Given the description of an element on the screen output the (x, y) to click on. 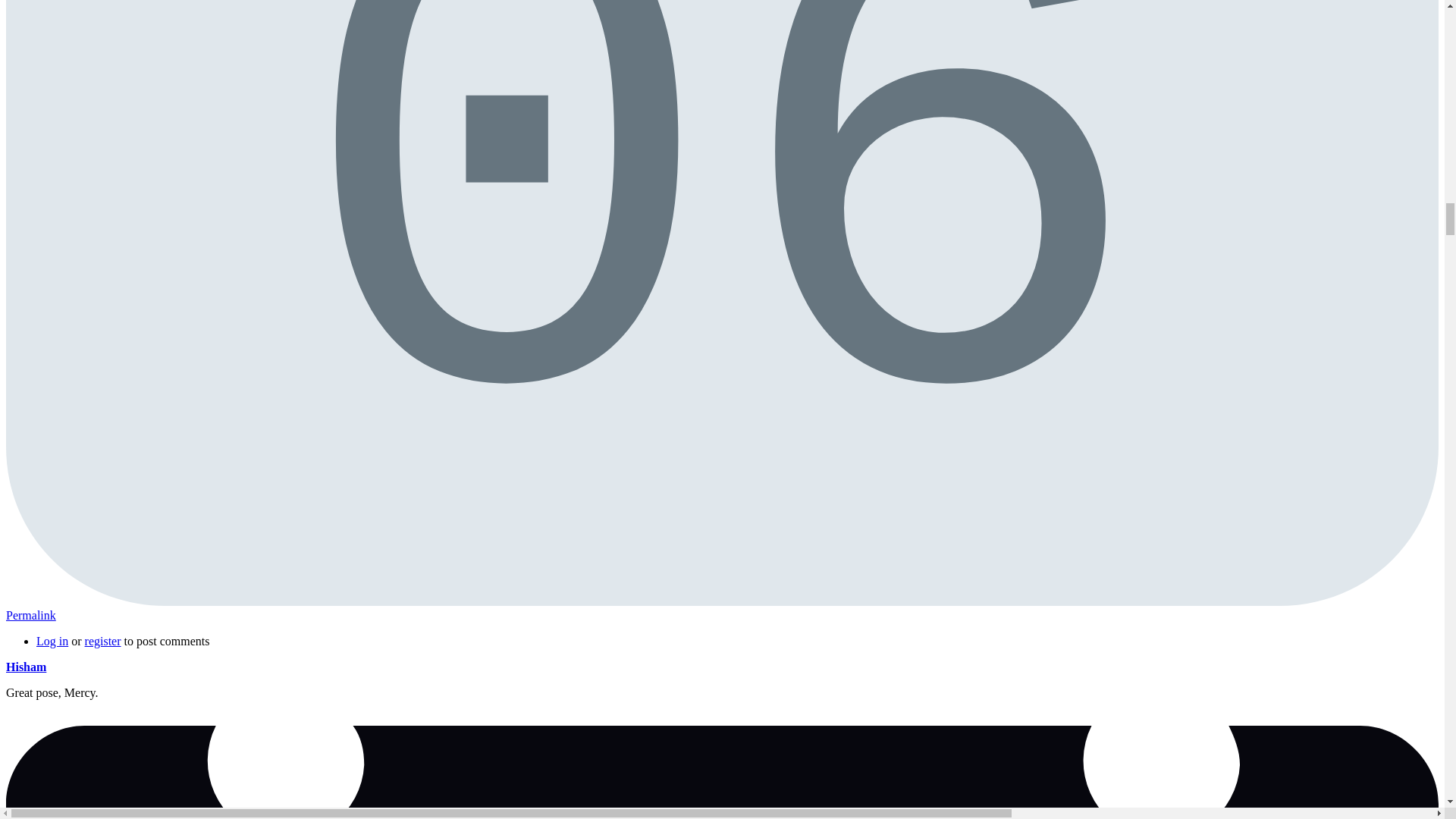
Hisham (25, 666)
Log in (30, 615)
register (52, 640)
View user profile. (721, 772)
